Given the description of an element on the screen output the (x, y) to click on. 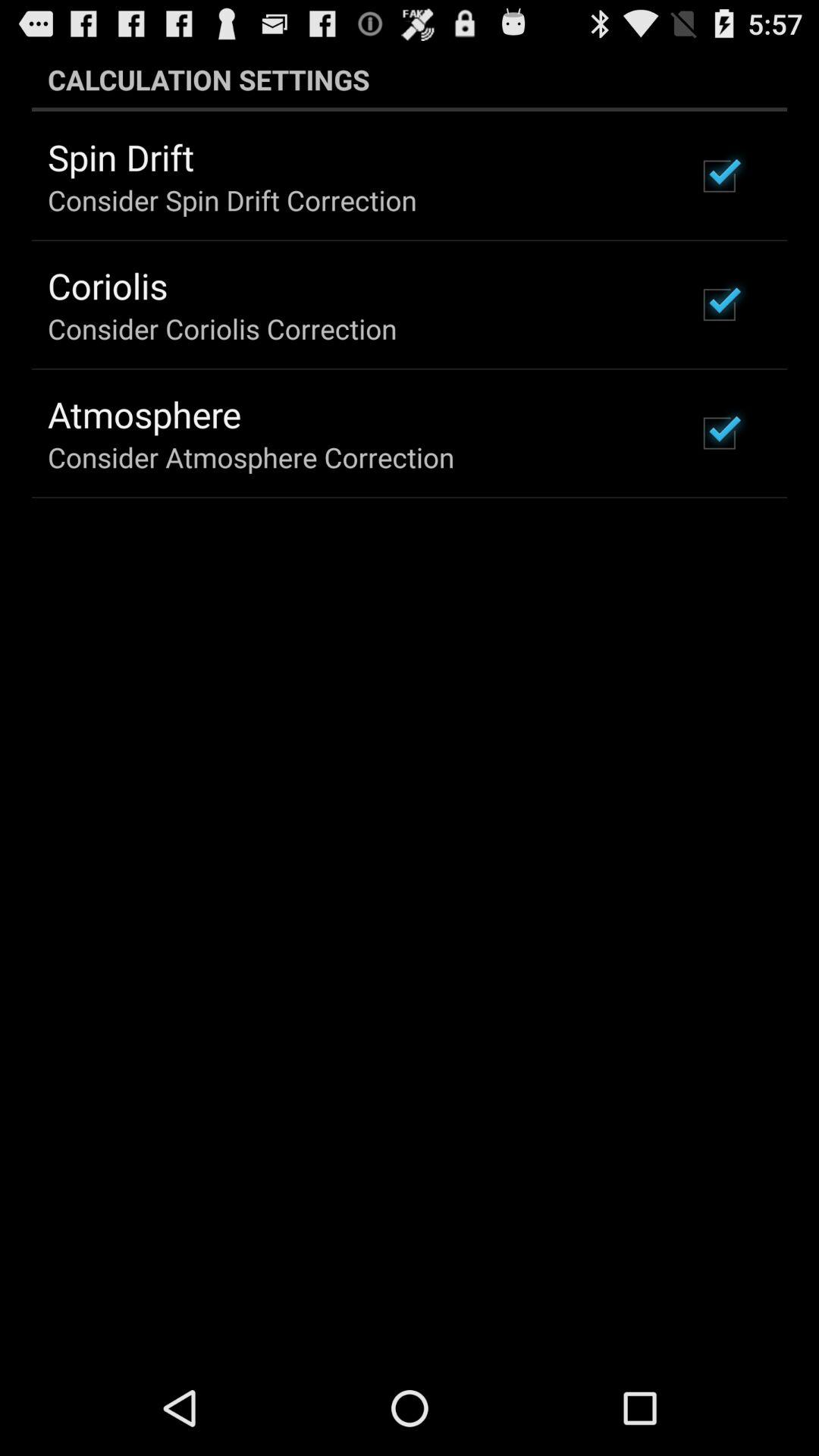
choose the calculation settings app (409, 79)
